Given the description of an element on the screen output the (x, y) to click on. 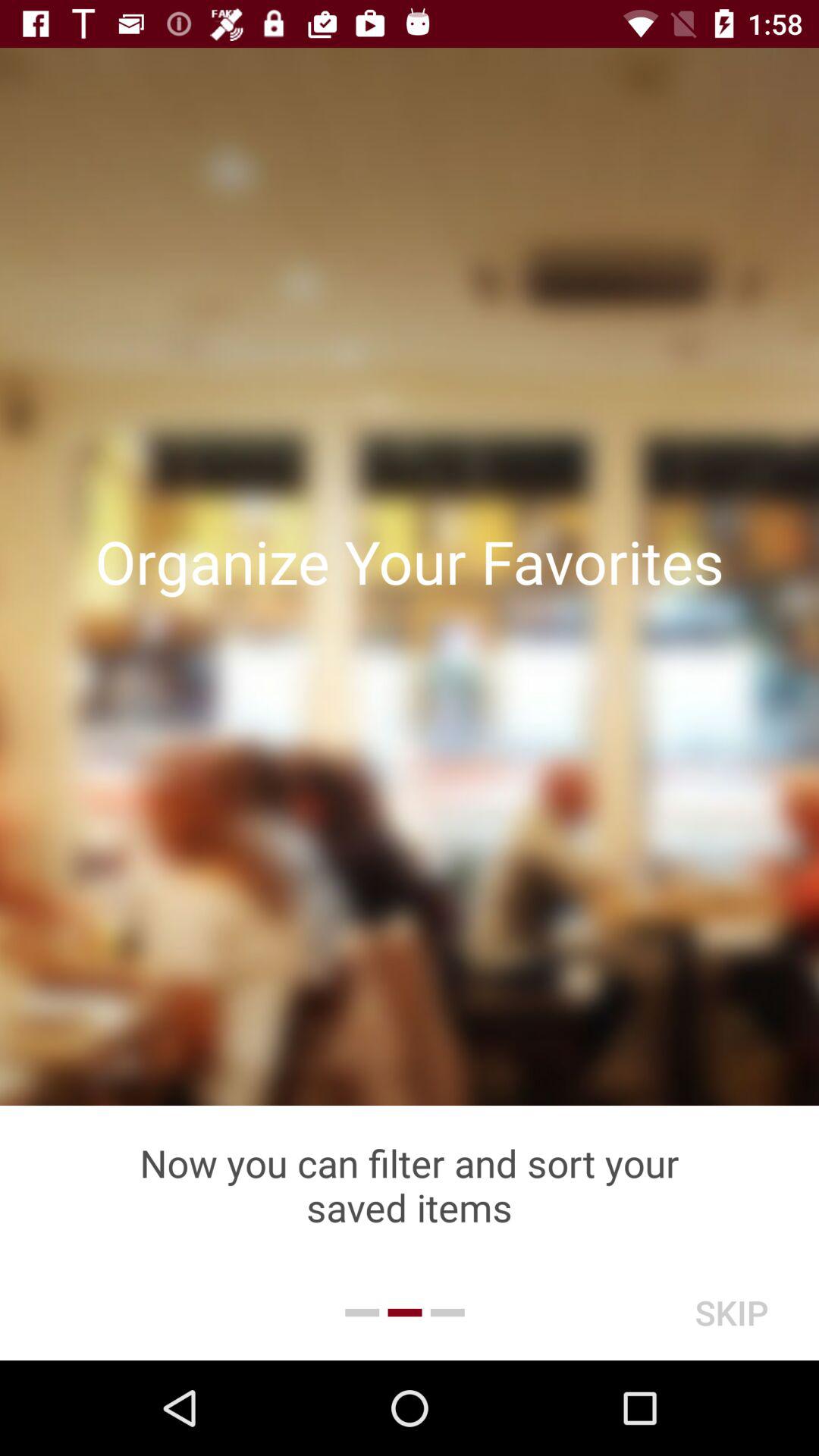
select the skip (731, 1312)
